Given the description of an element on the screen output the (x, y) to click on. 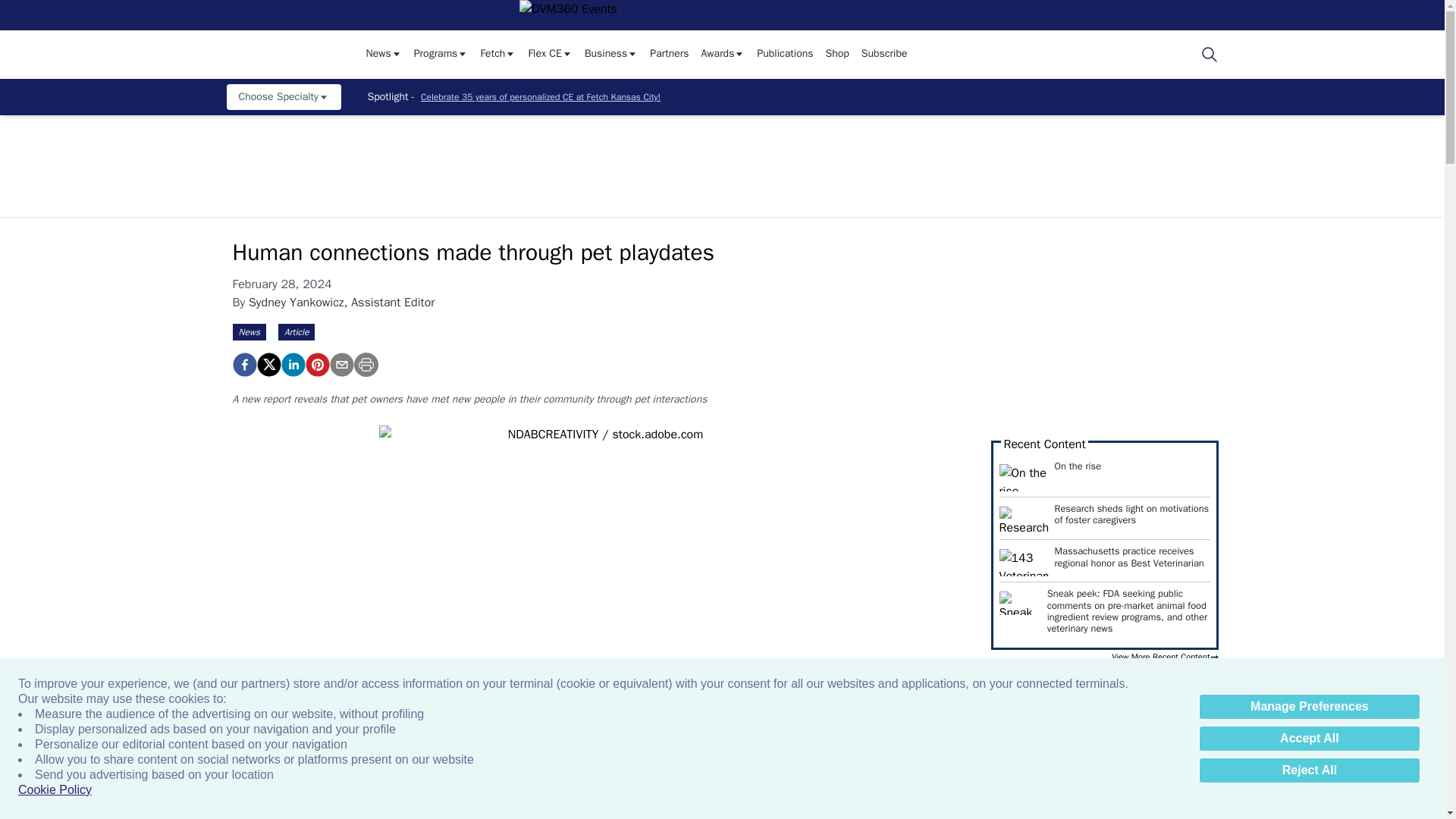
Human connections made through pet playdates (316, 364)
Manage Preferences (1309, 706)
Reject All (1309, 769)
Human connections made through pet playdates (243, 364)
Flex CE (549, 54)
News (383, 54)
Cookie Policy (54, 789)
Accept All (1309, 738)
Fetch (497, 54)
Programs (440, 54)
